Given the description of an element on the screen output the (x, y) to click on. 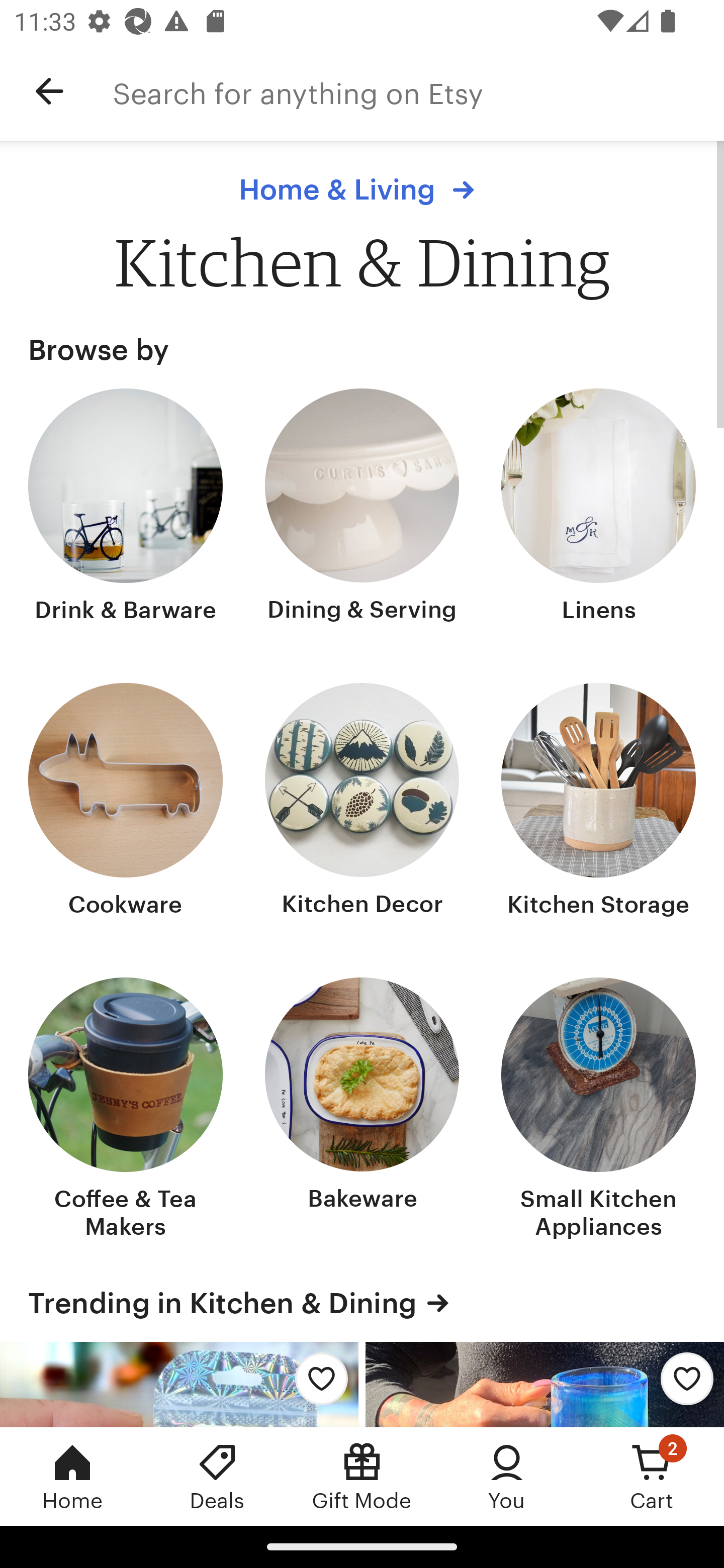
Navigate up (49, 91)
Search for anything on Etsy (418, 91)
Home & Living (361, 189)
Drink & Barware (125, 507)
Dining & Serving (361, 507)
Linens (598, 507)
Cookware (125, 802)
Kitchen Decor (361, 802)
Kitchen Storage (598, 802)
Coffee & Tea Makers (125, 1109)
Bakeware (361, 1109)
Small Kitchen Appliances (598, 1109)
Trending in Kitchen & Dining  (361, 1302)
Deals (216, 1475)
Gift Mode (361, 1475)
You (506, 1475)
Cart, 2 new notifications Cart (651, 1475)
